Given the description of an element on the screen output the (x, y) to click on. 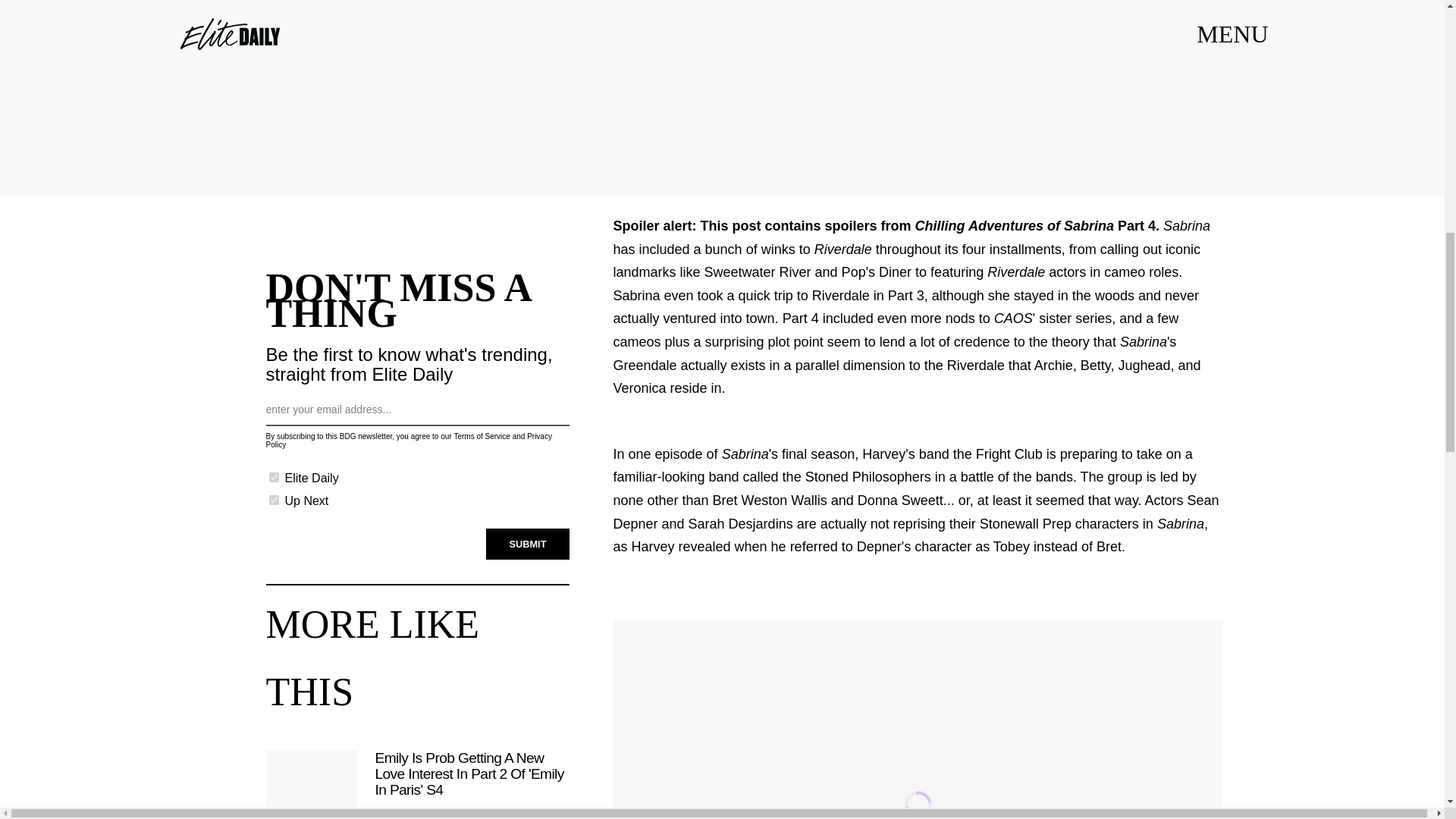
Privacy Policy (407, 440)
SUBMIT (527, 544)
Terms of Service (480, 436)
